Given the description of an element on the screen output the (x, y) to click on. 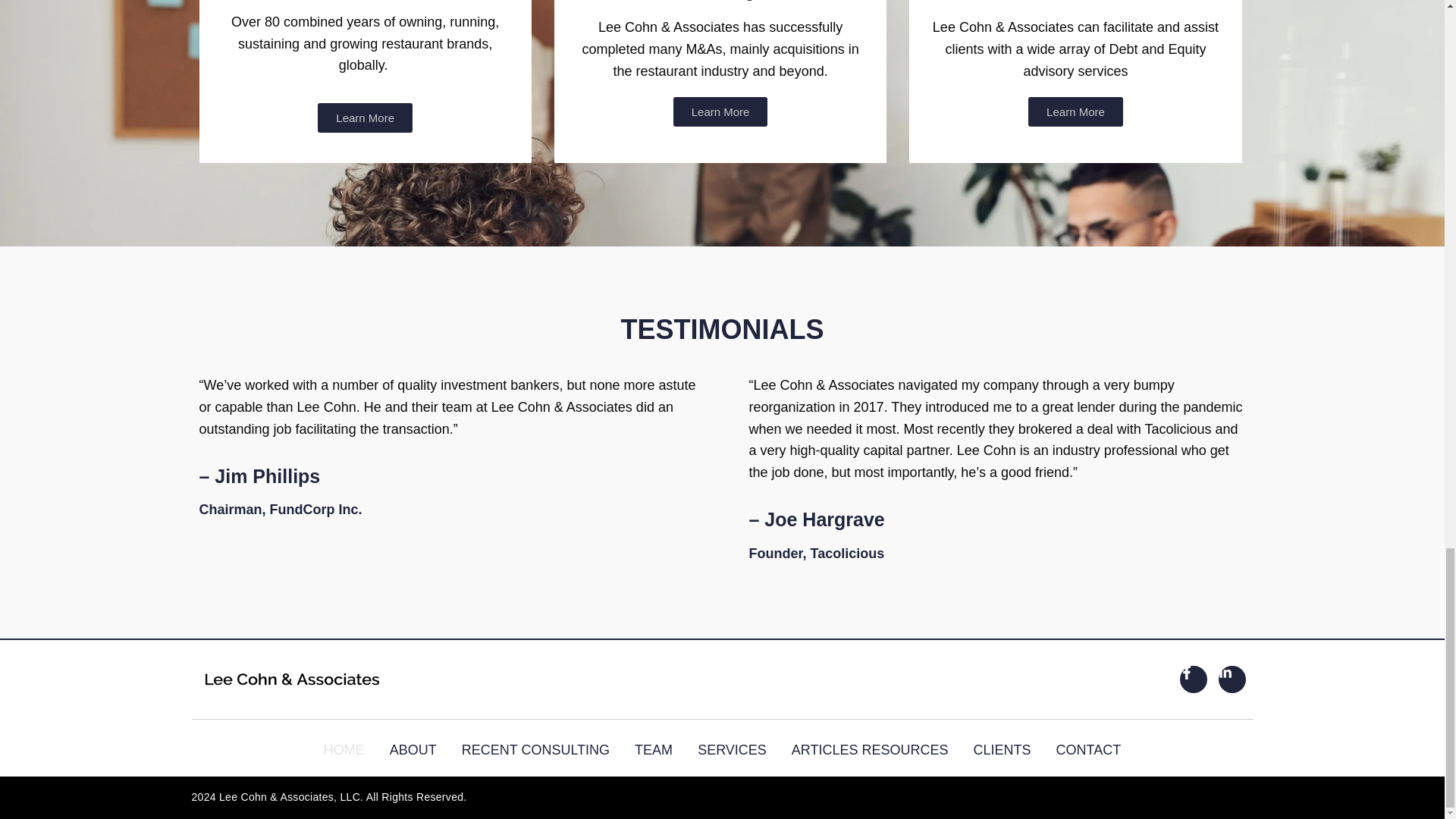
SERVICES (732, 749)
Learn More (720, 111)
Learn More (1074, 111)
Learn More (364, 117)
CONTACT (1089, 749)
RECENT CONSULTING (535, 749)
HOME (344, 749)
CLIENTS (1002, 749)
ABOUT (413, 749)
TEAM (653, 749)
ARTICLES RESOURCES (870, 749)
